Given the description of an element on the screen output the (x, y) to click on. 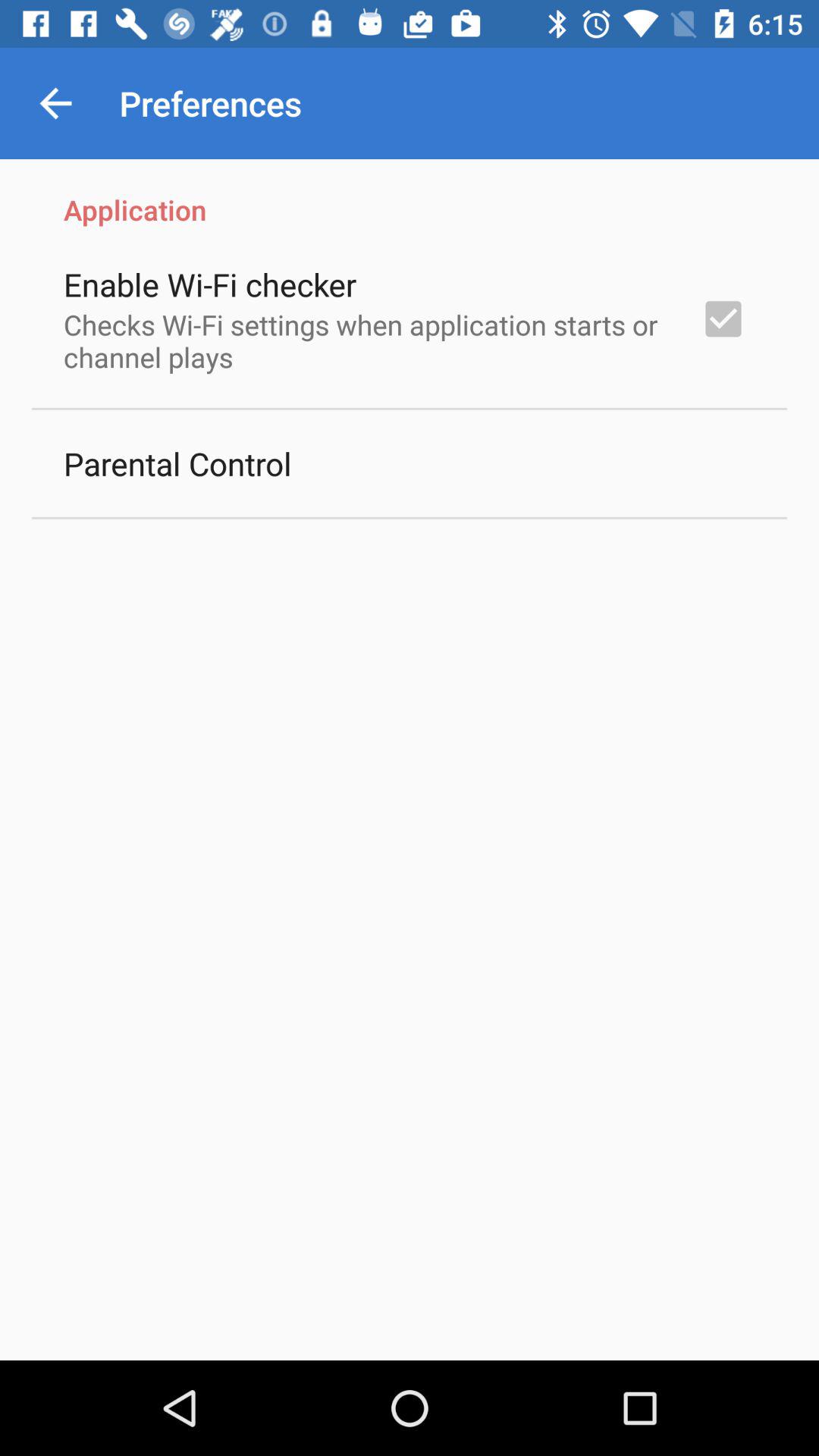
launch the item at the top right corner (723, 318)
